Given the description of an element on the screen output the (x, y) to click on. 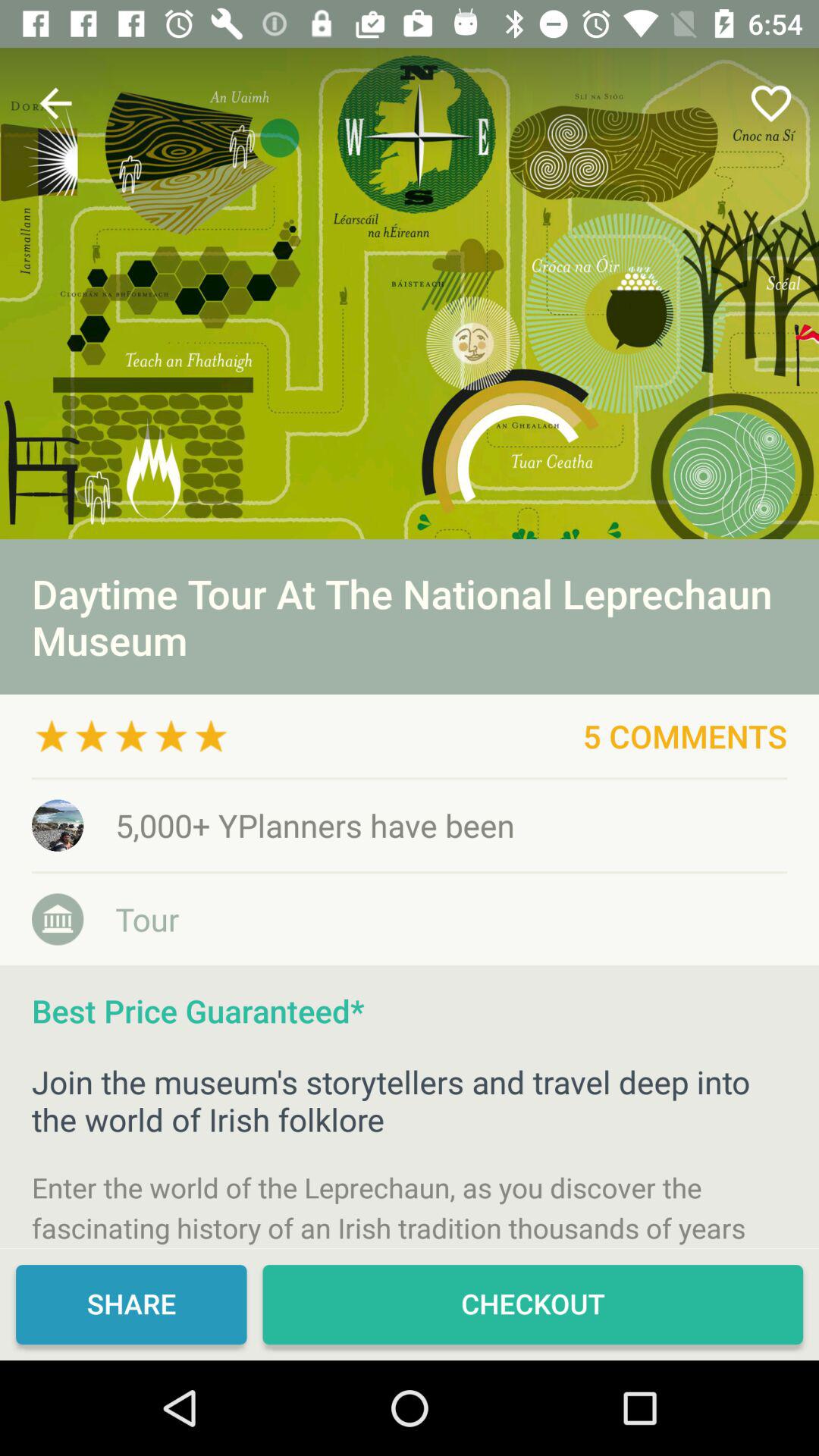
museum poster (409, 293)
